Given the description of an element on the screen output the (x, y) to click on. 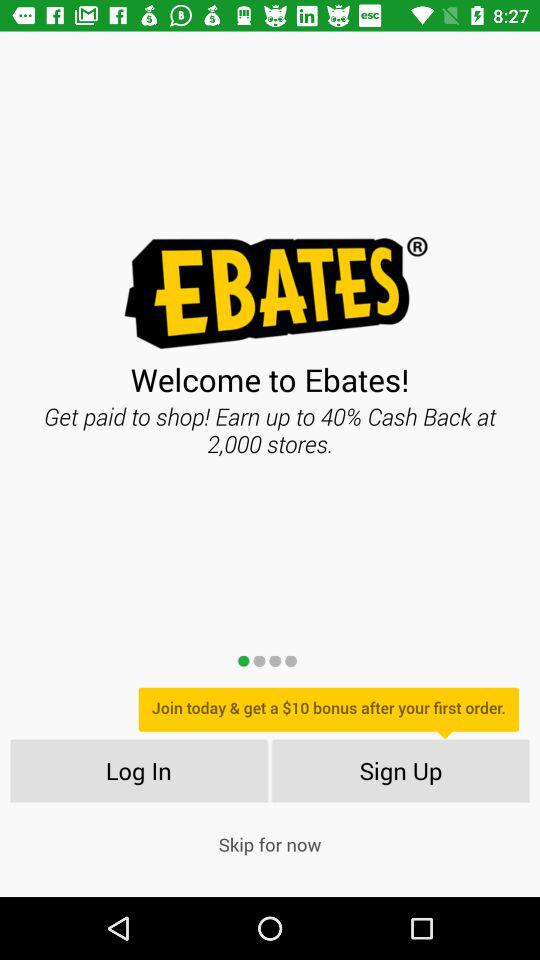
scroll until sign up (400, 770)
